Given the description of an element on the screen output the (x, y) to click on. 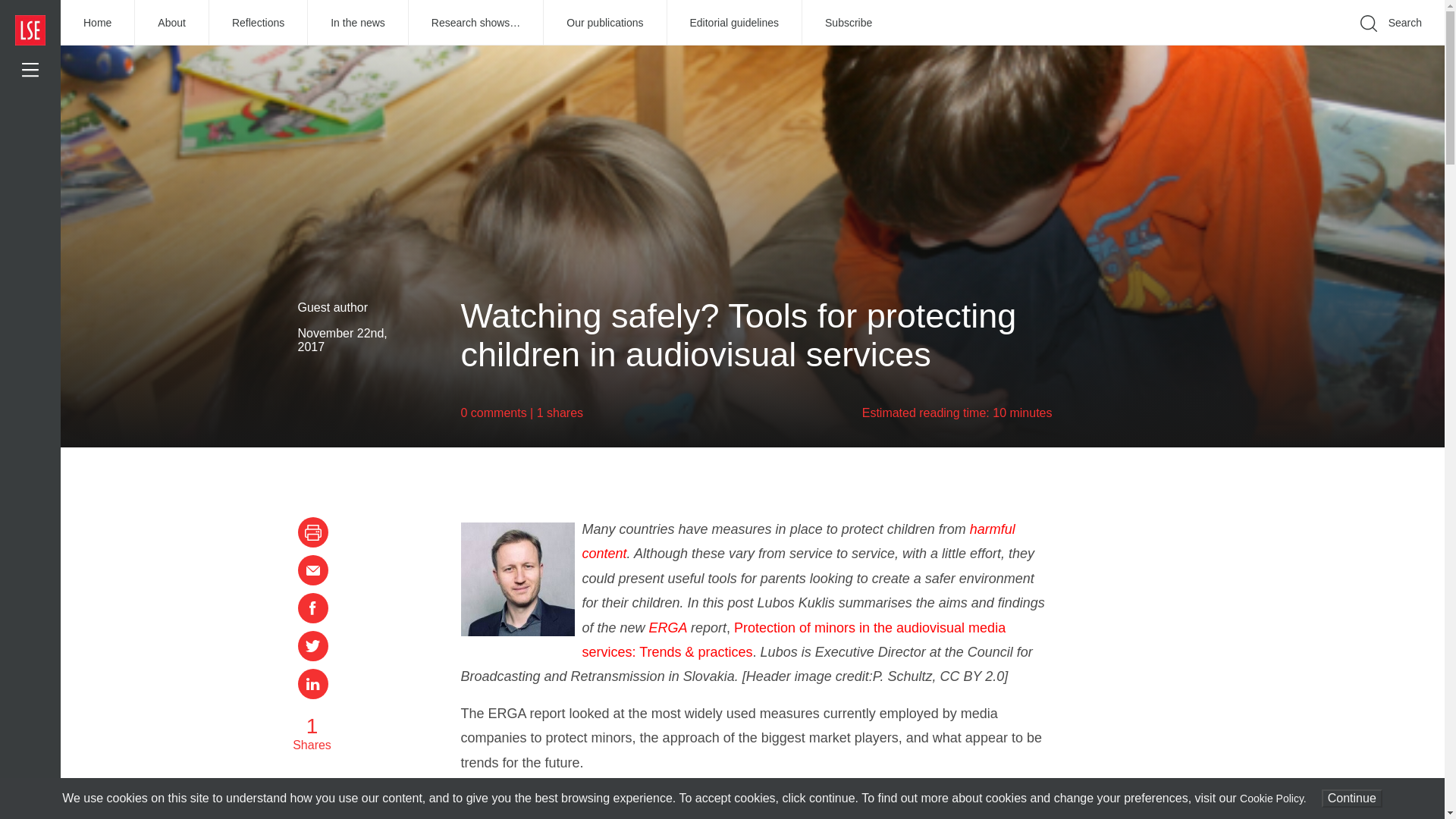
Subscribe (848, 22)
ERGA (668, 627)
Editorial guidelines (734, 22)
0 comments (494, 412)
Go (1190, 44)
harmful content (798, 541)
Reflections (258, 22)
Home (98, 22)
Our publications (604, 22)
In the news (358, 22)
About (172, 22)
